Given the description of an element on the screen output the (x, y) to click on. 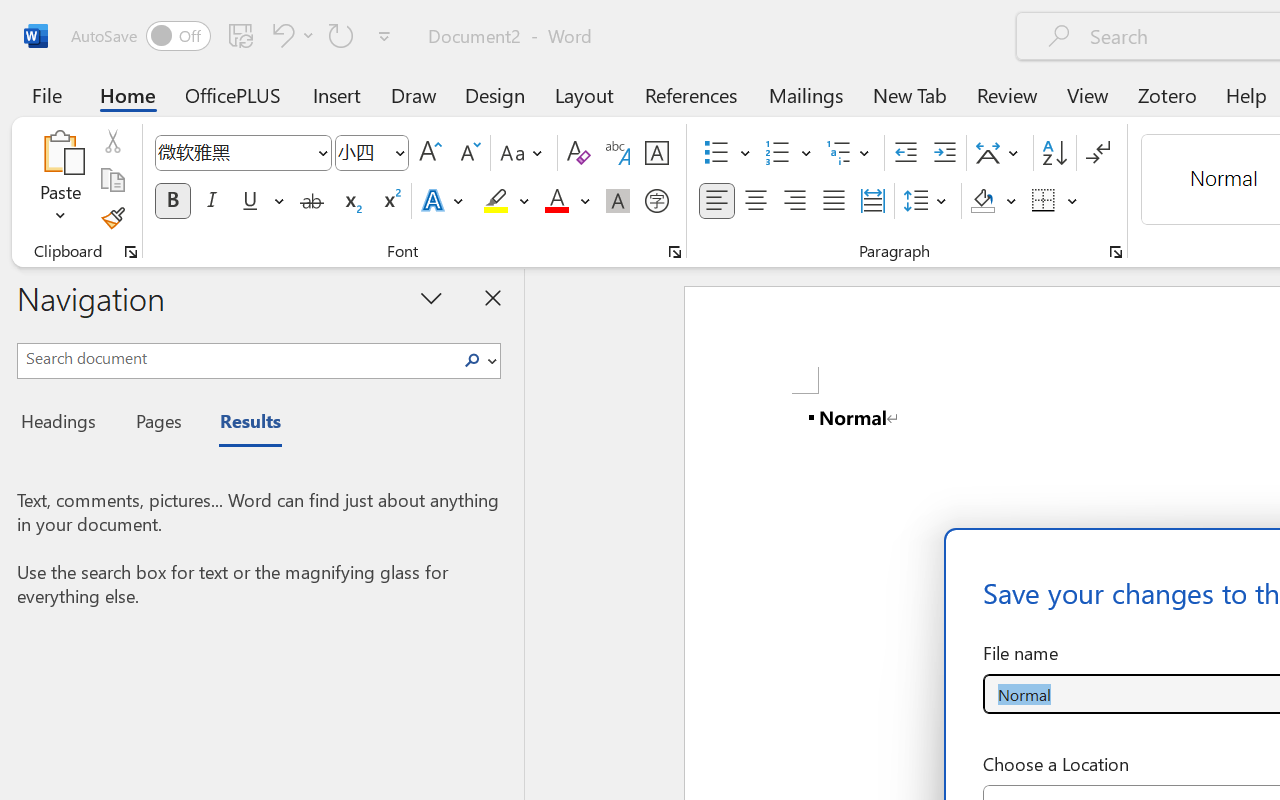
Font Color (567, 201)
Task Pane Options (431, 297)
Text Effects and Typography (444, 201)
Center (756, 201)
Undo <ApplyStyleToDoc>b__0 (280, 35)
Class: NetUIImage (471, 360)
Search document (236, 358)
Borders (1055, 201)
Shrink Font (468, 153)
Numbering (778, 153)
Character Border (656, 153)
Mailings (806, 94)
Subscript (350, 201)
Change Case (524, 153)
